Given the description of an element on the screen output the (x, y) to click on. 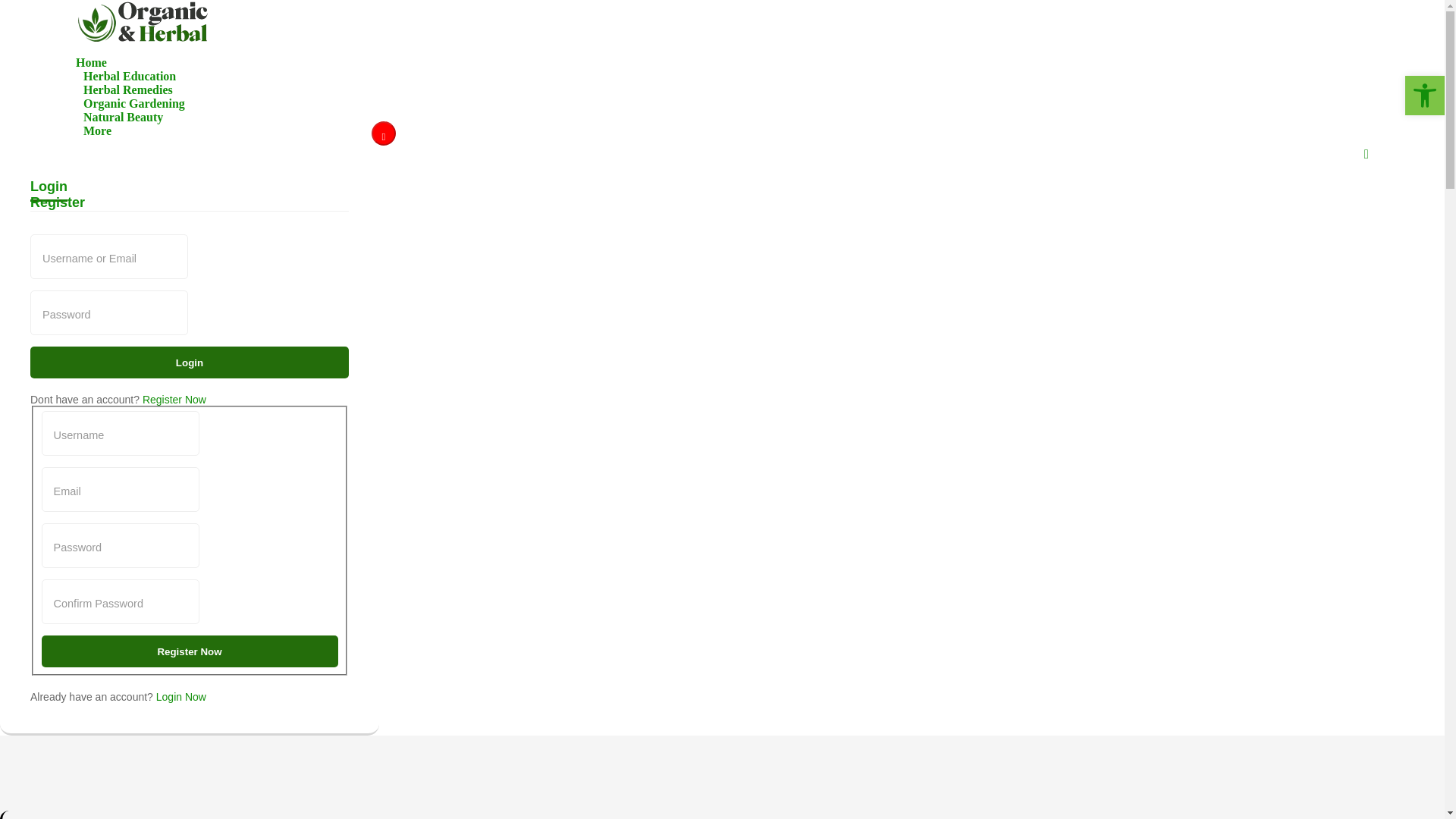
Natural Beauty (122, 116)
Natural Beauty (122, 116)
Login Now (180, 696)
Register Now (174, 399)
Register (57, 205)
Herbal Education (129, 75)
Organic Gardening (133, 103)
Herbal Remedies (127, 89)
Organic Gardening (133, 103)
Accessibility Tools (1424, 95)
Register Now (188, 651)
Herbal Education (129, 75)
Login (48, 189)
Login (189, 362)
Herbal Remedies (127, 89)
